Given the description of an element on the screen output the (x, y) to click on. 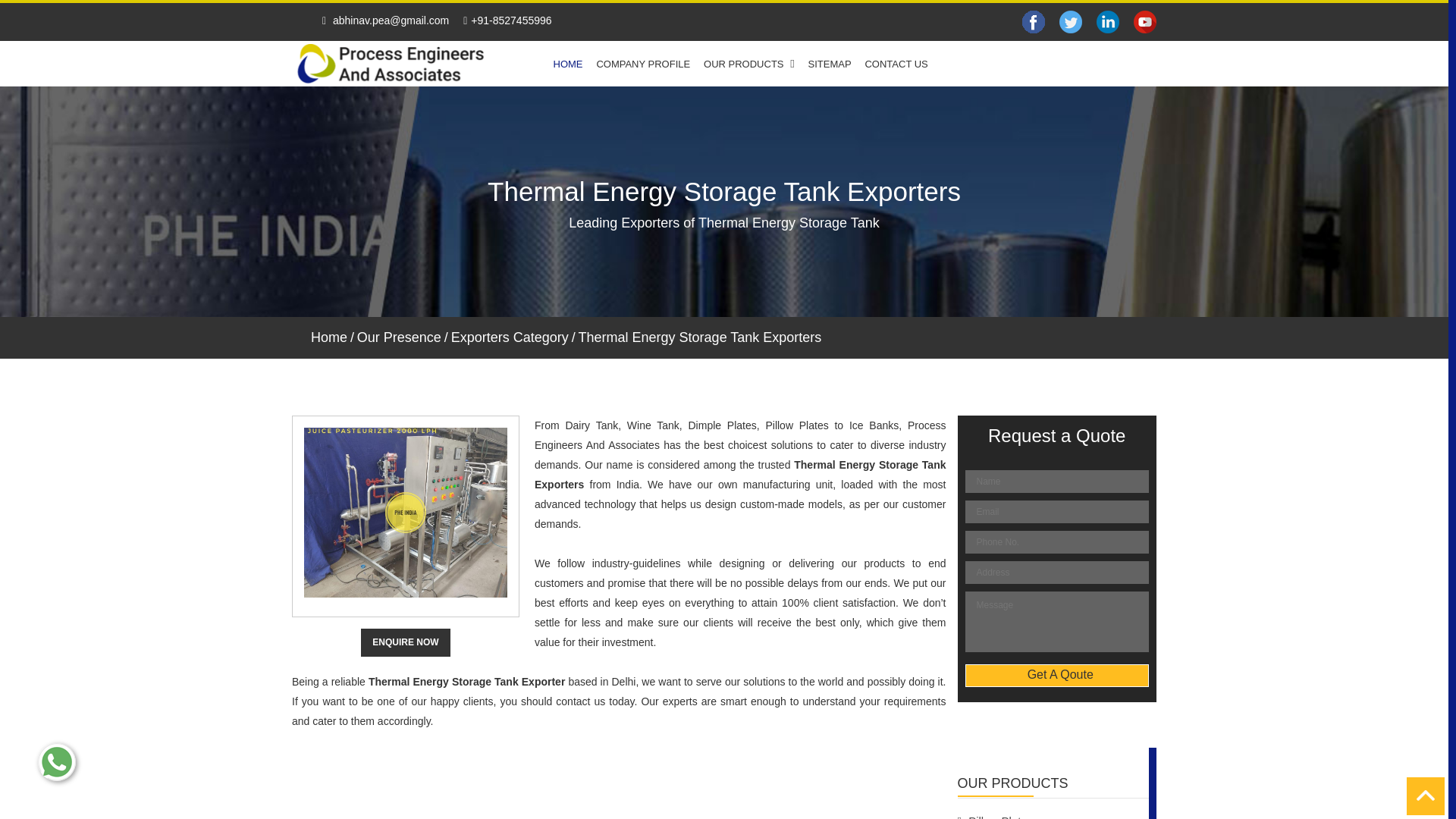
facebook (1033, 21)
facebook (1070, 21)
Get A Qoute (1055, 675)
Youtube (1145, 21)
Linkedin (1107, 21)
Twitter (1070, 21)
Facebook (1033, 21)
facebook (1145, 21)
facebook (1107, 21)
